Given the description of an element on the screen output the (x, y) to click on. 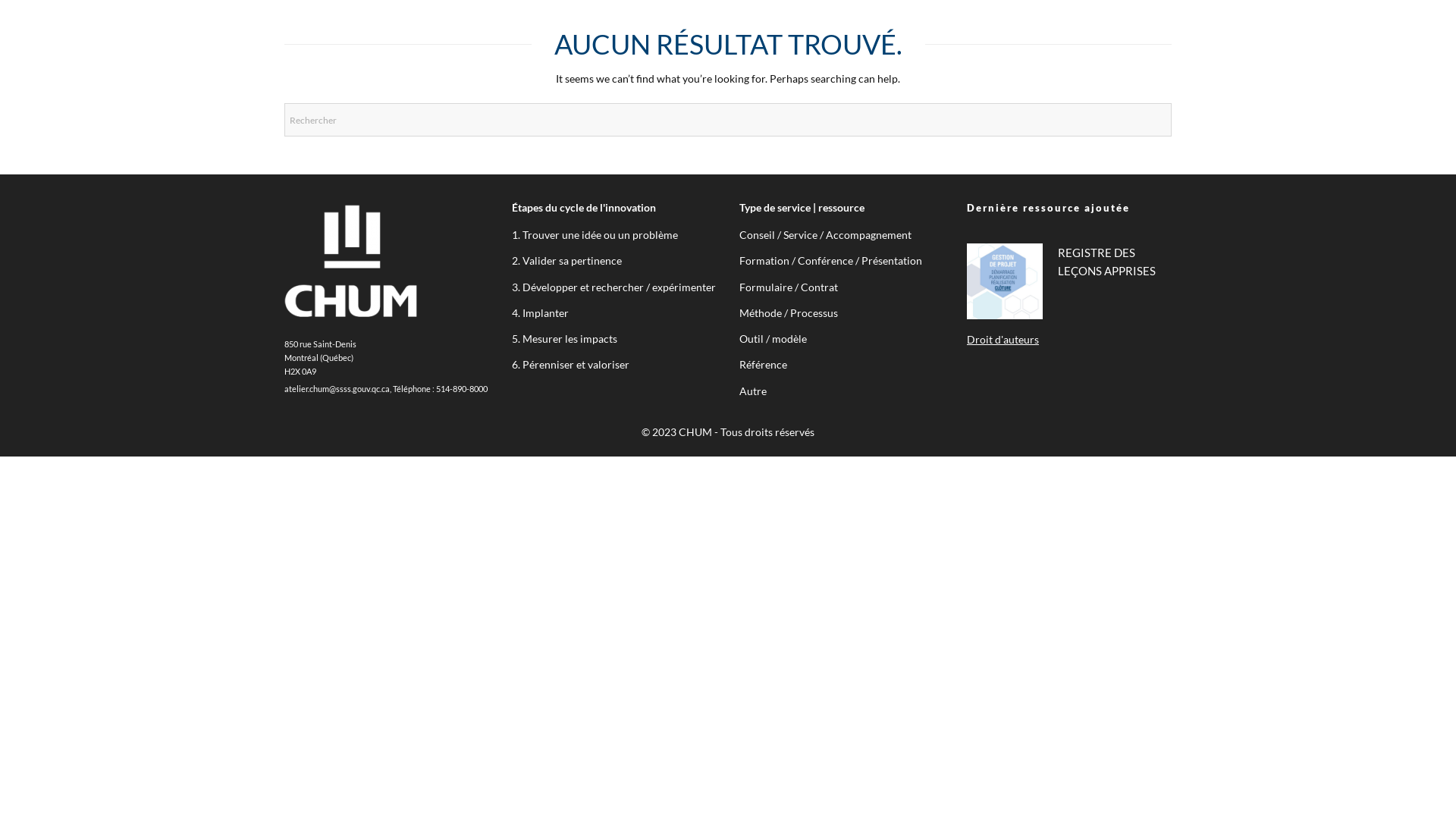
Droit d'auteurs Element type: text (1002, 338)
4. Implanter Element type: text (539, 312)
Autre Element type: text (752, 390)
Conseil / Service / Accompagnement Element type: text (825, 234)
5. Mesurer les impacts Element type: text (564, 338)
Type de service | ressource Element type: text (801, 206)
atelier.chum@ssss.gouv.qc.ca Element type: text (336, 388)
2. Valider sa pertinence Element type: text (566, 260)
Formulaire / Contrat Element type: text (788, 286)
